Given the description of an element on the screen output the (x, y) to click on. 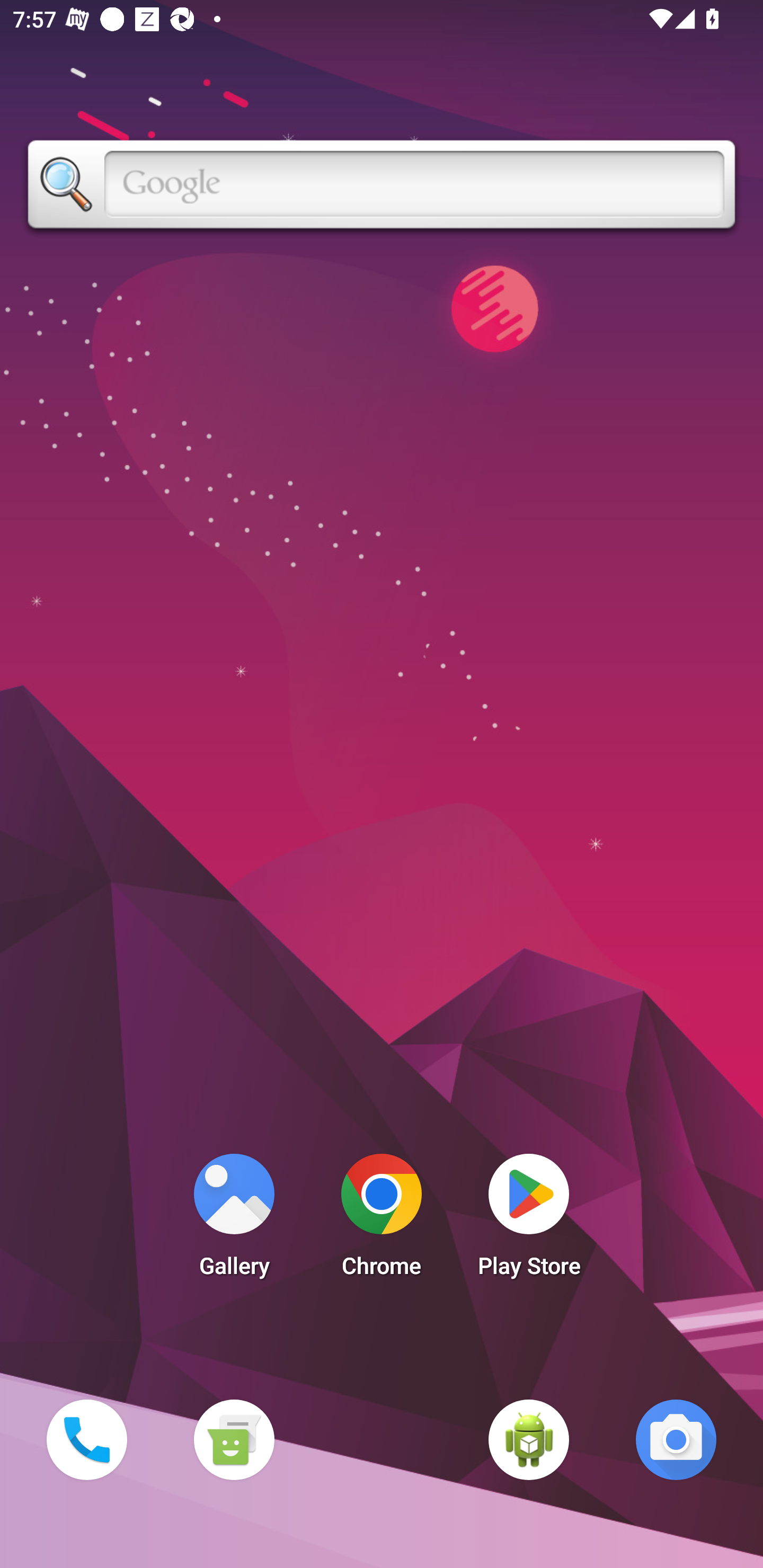
Gallery (233, 1220)
Chrome (381, 1220)
Play Store (528, 1220)
Phone (86, 1439)
Messaging (233, 1439)
WebView Browser Tester (528, 1439)
Camera (676, 1439)
